Given the description of an element on the screen output the (x, y) to click on. 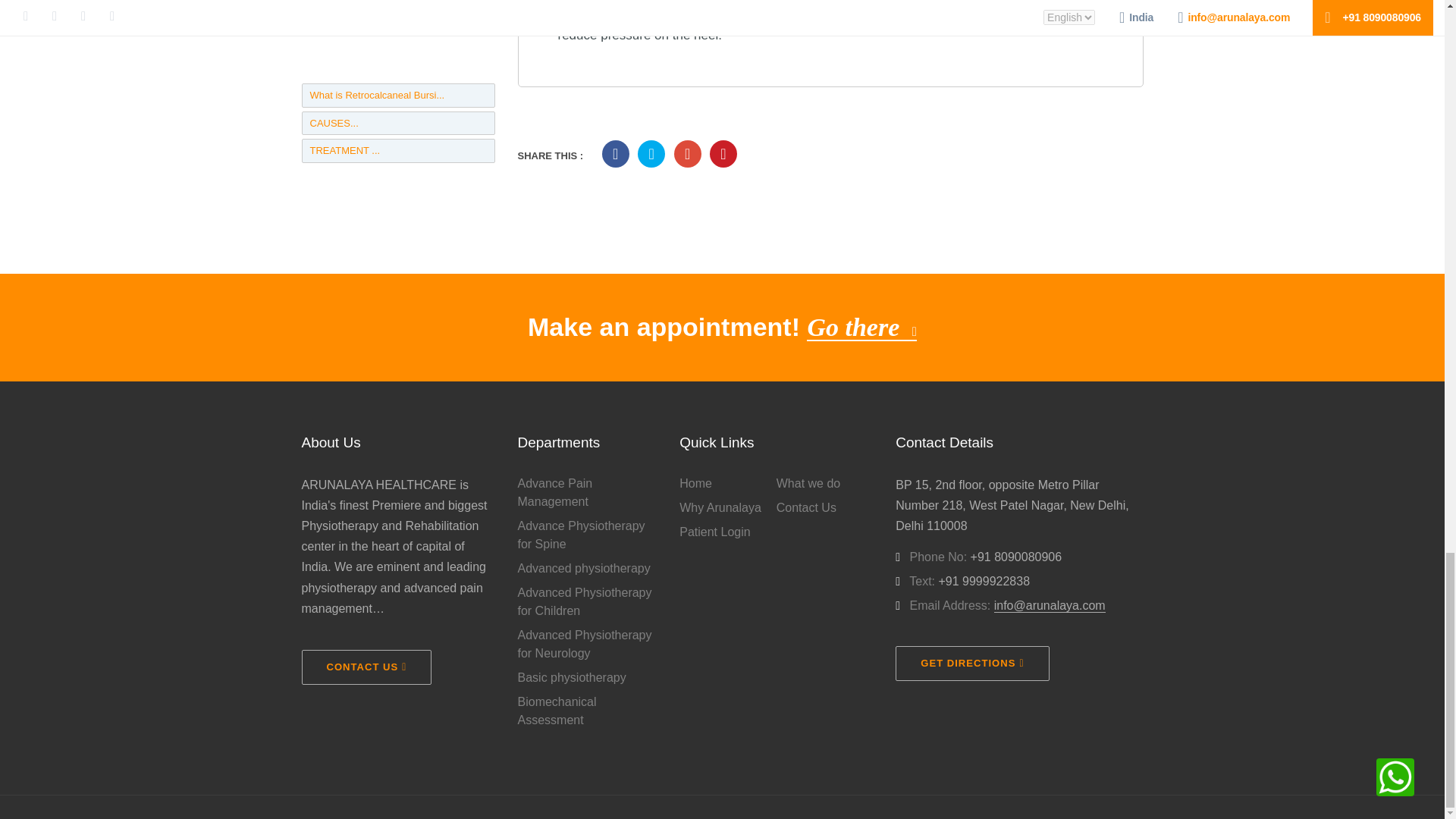
Advance Physiotherapy for Spine (586, 534)
What we do (824, 484)
Advanced Physiotherapy for Children (586, 601)
Biomechanical Assessment (586, 710)
Why Arunalaya (727, 507)
Home (727, 484)
Contact Us (824, 507)
Basic physiotherapy (586, 678)
Advanced physiotherapy (586, 568)
Advance Pain Management (586, 493)
Go there (861, 326)
Advanced Physiotherapy for Neurology (586, 644)
CONTACT US (366, 667)
Go there (861, 326)
